Given the description of an element on the screen output the (x, y) to click on. 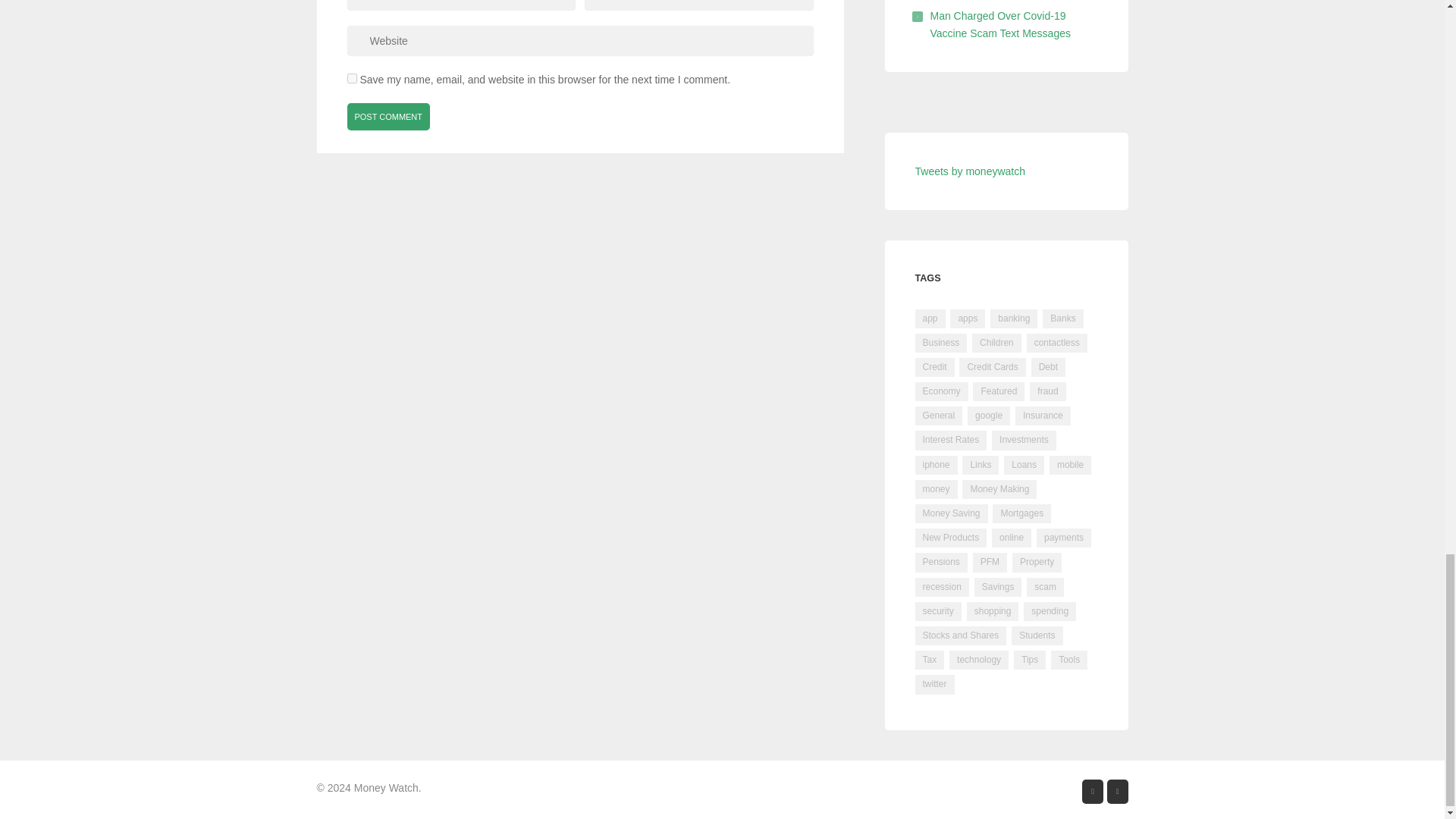
Post Comment (388, 116)
yes (351, 78)
Post Comment (388, 116)
